Given the description of an element on the screen output the (x, y) to click on. 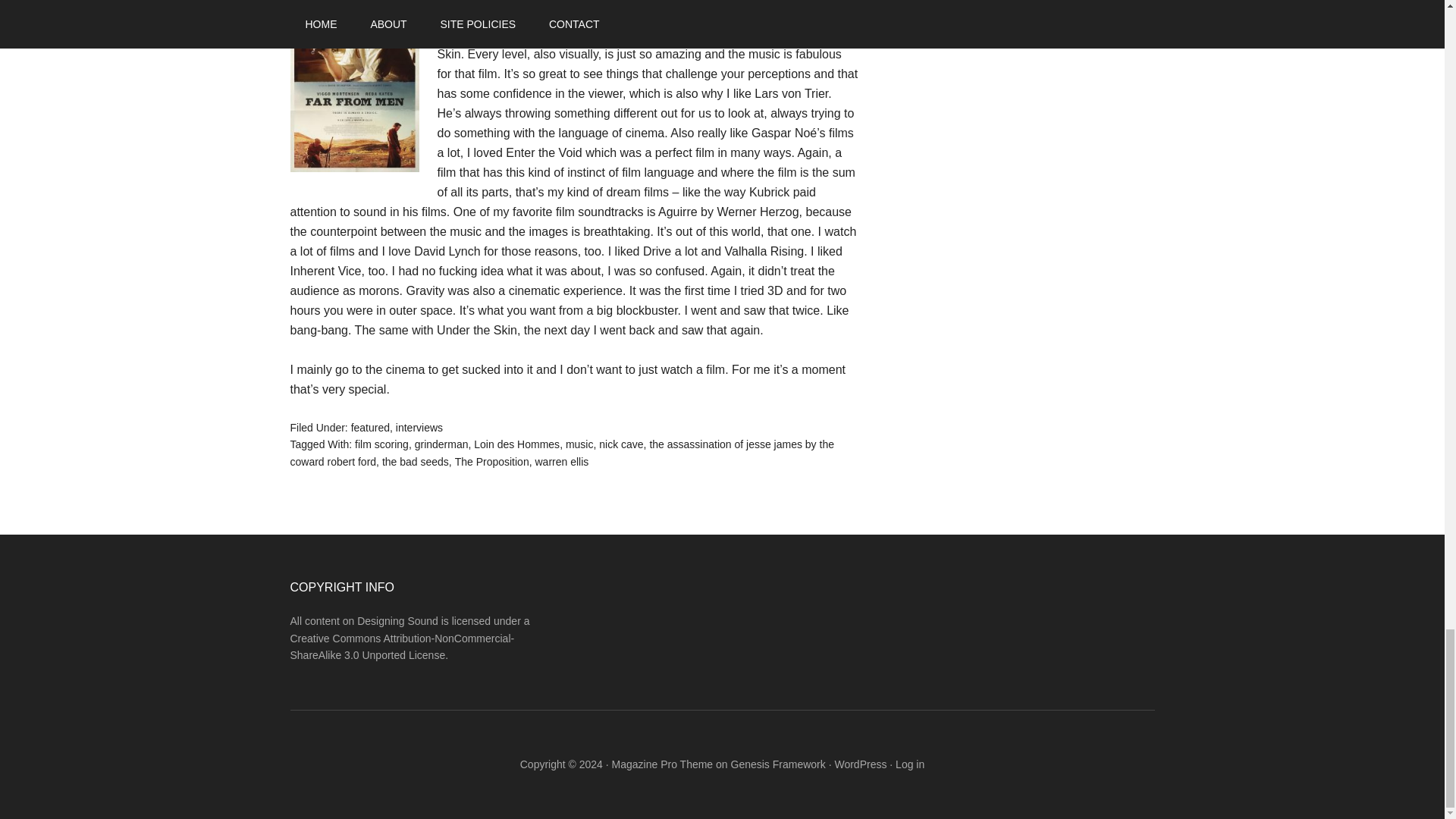
the assassination of jesse james by the coward robert ford (560, 452)
music (580, 444)
The Proposition (491, 461)
interviews (419, 427)
film scoring (382, 444)
Loin des Hommes (516, 444)
featured (370, 427)
the bad seeds (414, 461)
nick cave (620, 444)
warren ellis (561, 461)
grinderman (441, 444)
